Given the description of an element on the screen output the (x, y) to click on. 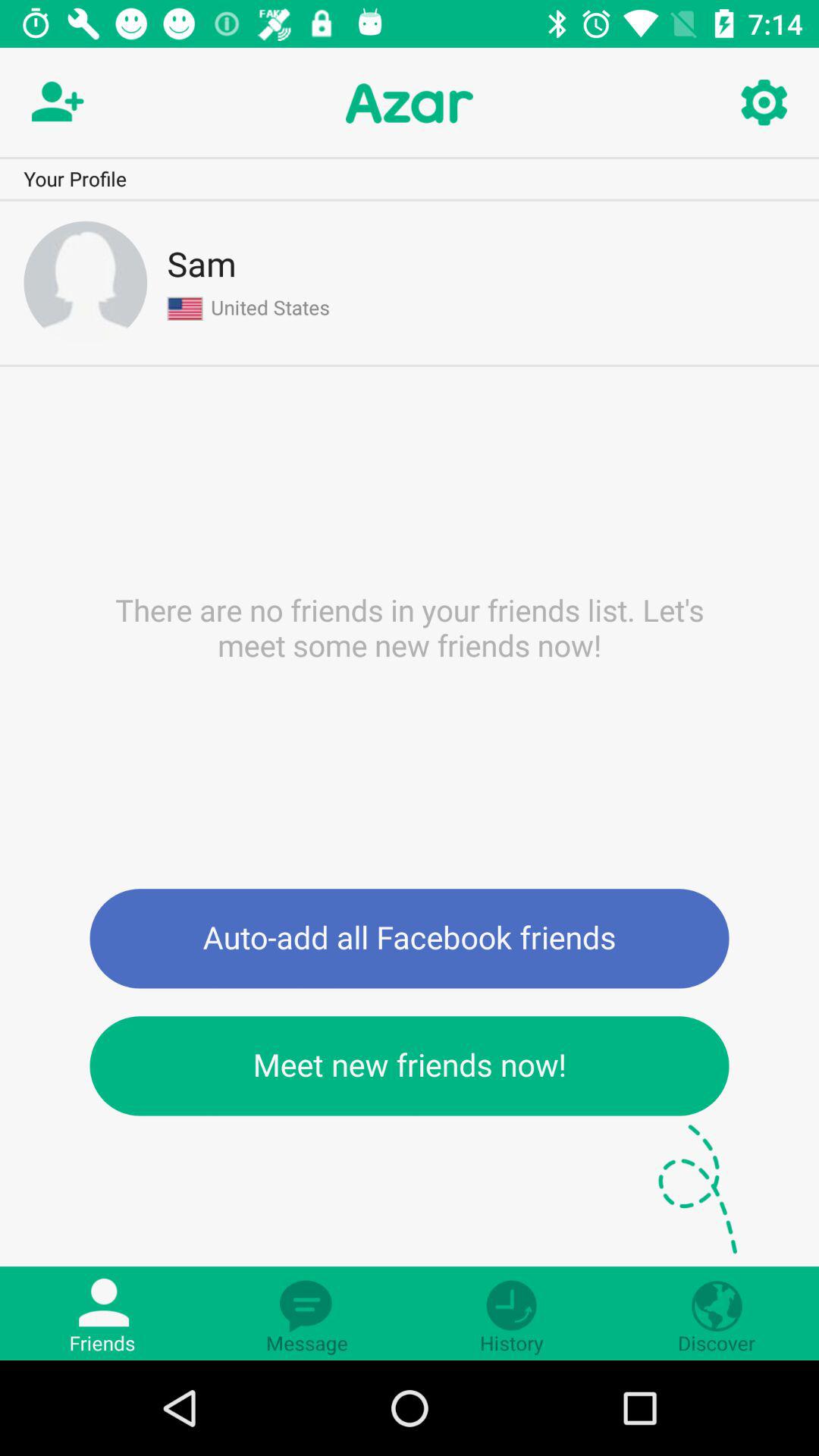
scroll until the auto add all item (409, 938)
